Given the description of an element on the screen output the (x, y) to click on. 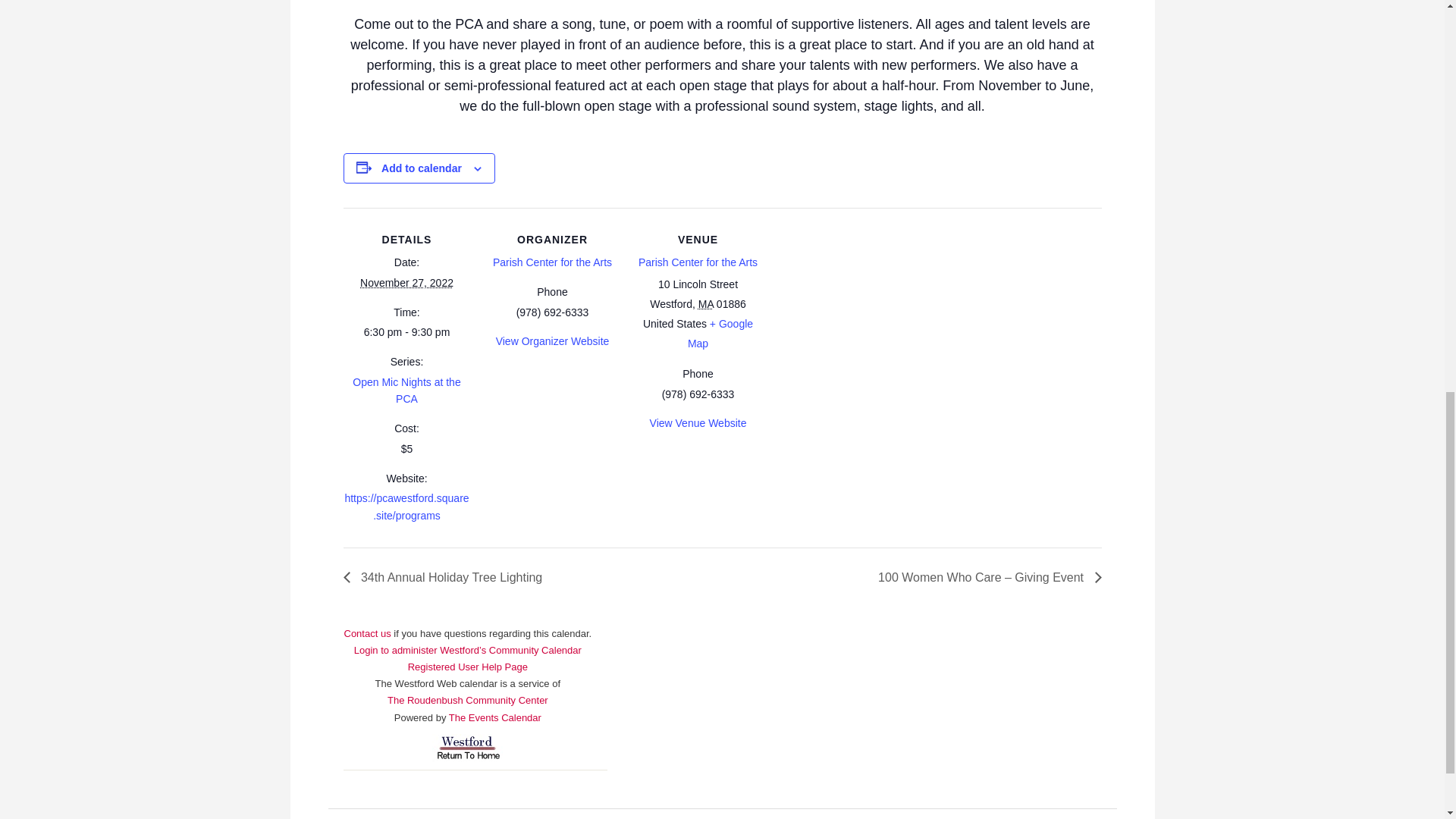
Massachusetts (705, 304)
View Venue Website (697, 422)
The Roudenbush Community Center (467, 699)
Registered User Help Page (467, 666)
Add to calendar (421, 168)
2022-11-27 (405, 282)
34th Annual Holiday Tree Lighting (446, 576)
The Events Calendar (494, 716)
2022-11-27 (406, 332)
Open Mic Nights at the PCA (406, 390)
